Given the description of an element on the screen output the (x, y) to click on. 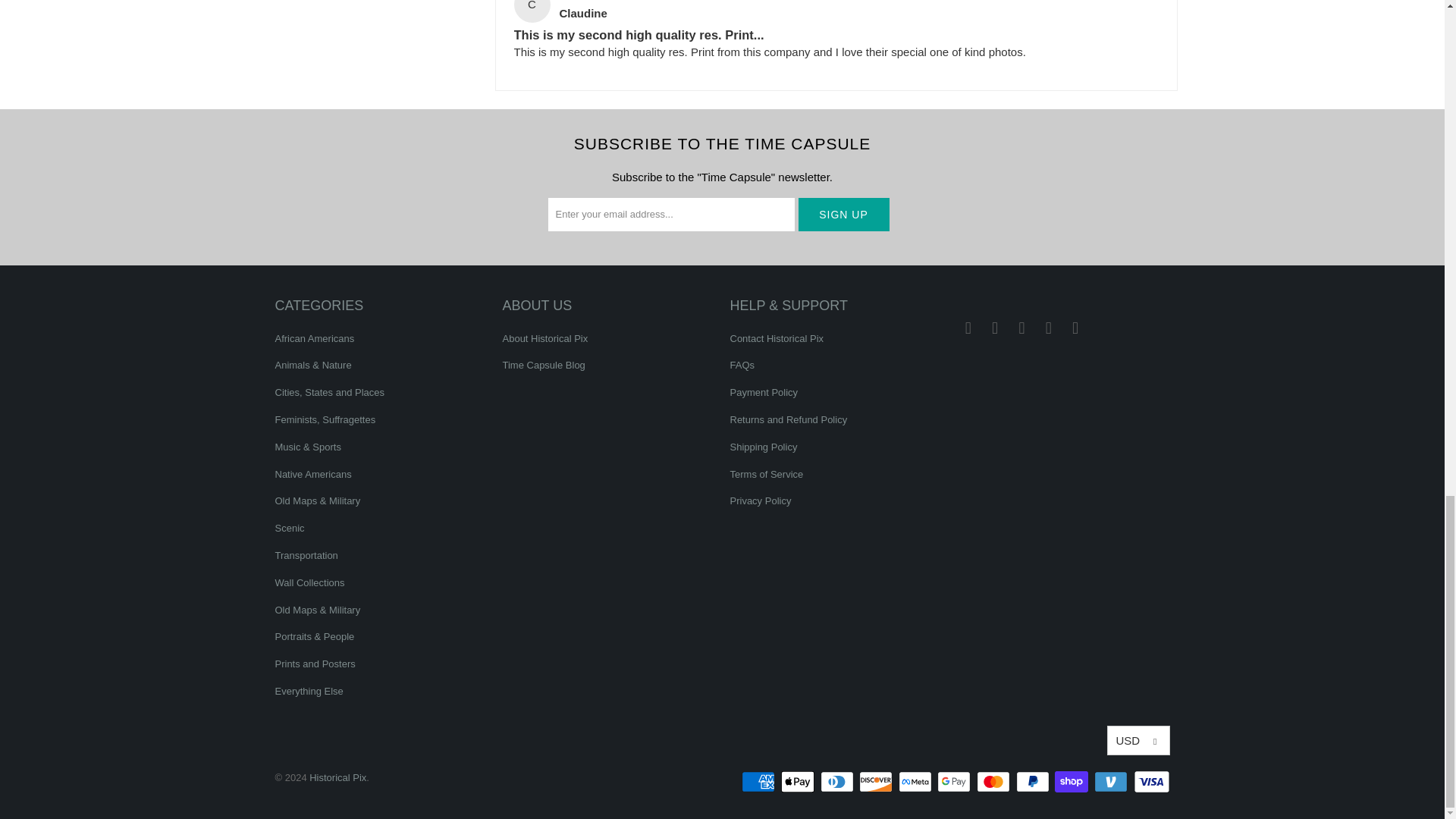
Google Pay (955, 781)
Historical Pix on YouTube (995, 328)
American Express (759, 781)
Visa (1150, 781)
Sign Up (842, 213)
Mastercard (994, 781)
PayPal (1034, 781)
Diners Club (839, 781)
Historical Pix on Facebook (967, 328)
Shop Pay (1072, 781)
Meta Pay (916, 781)
Discover (877, 781)
Venmo (1112, 781)
Apple Pay (798, 781)
